Given the description of an element on the screen output the (x, y) to click on. 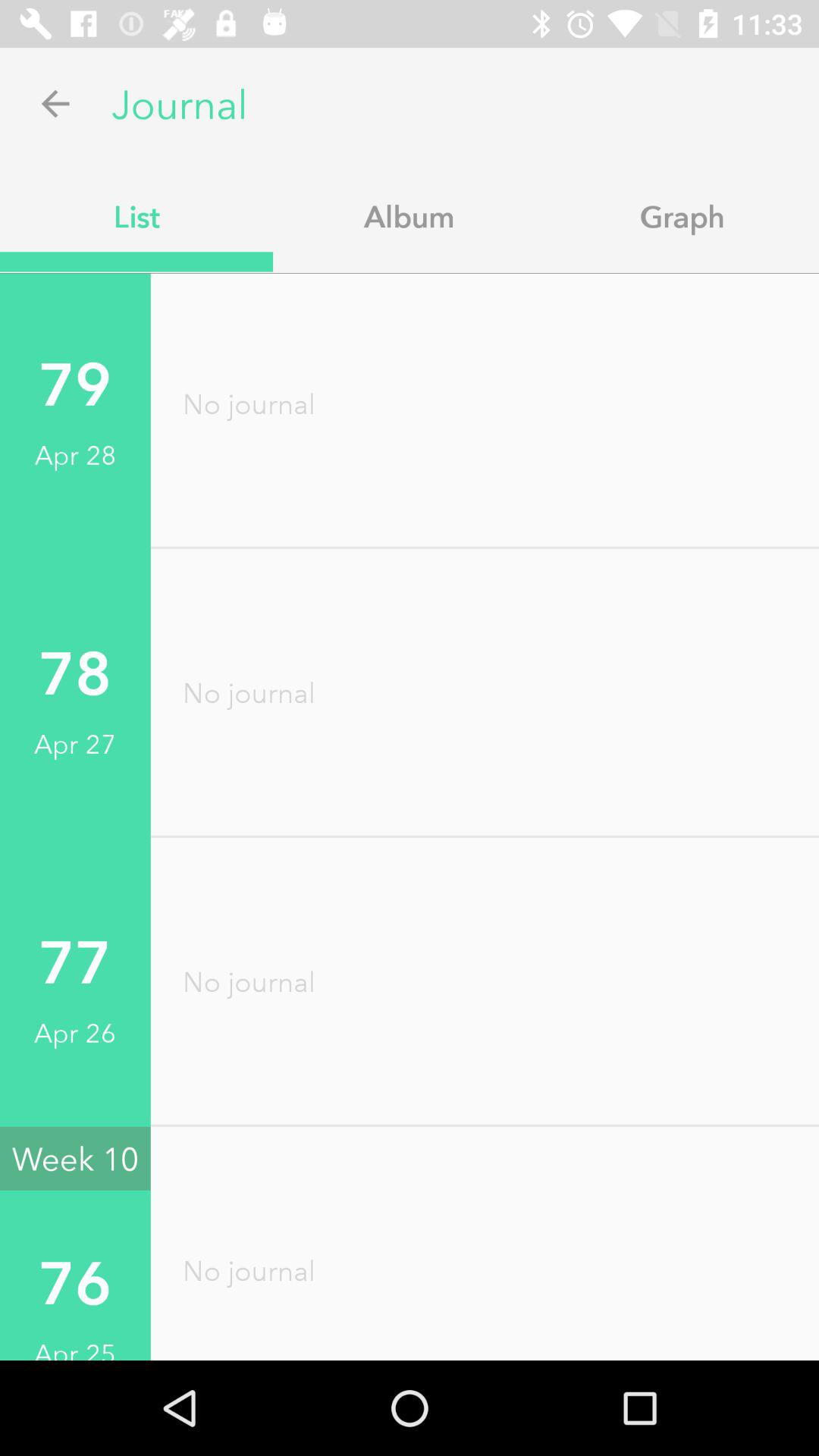
flip until graph item (682, 216)
